Given the description of an element on the screen output the (x, y) to click on. 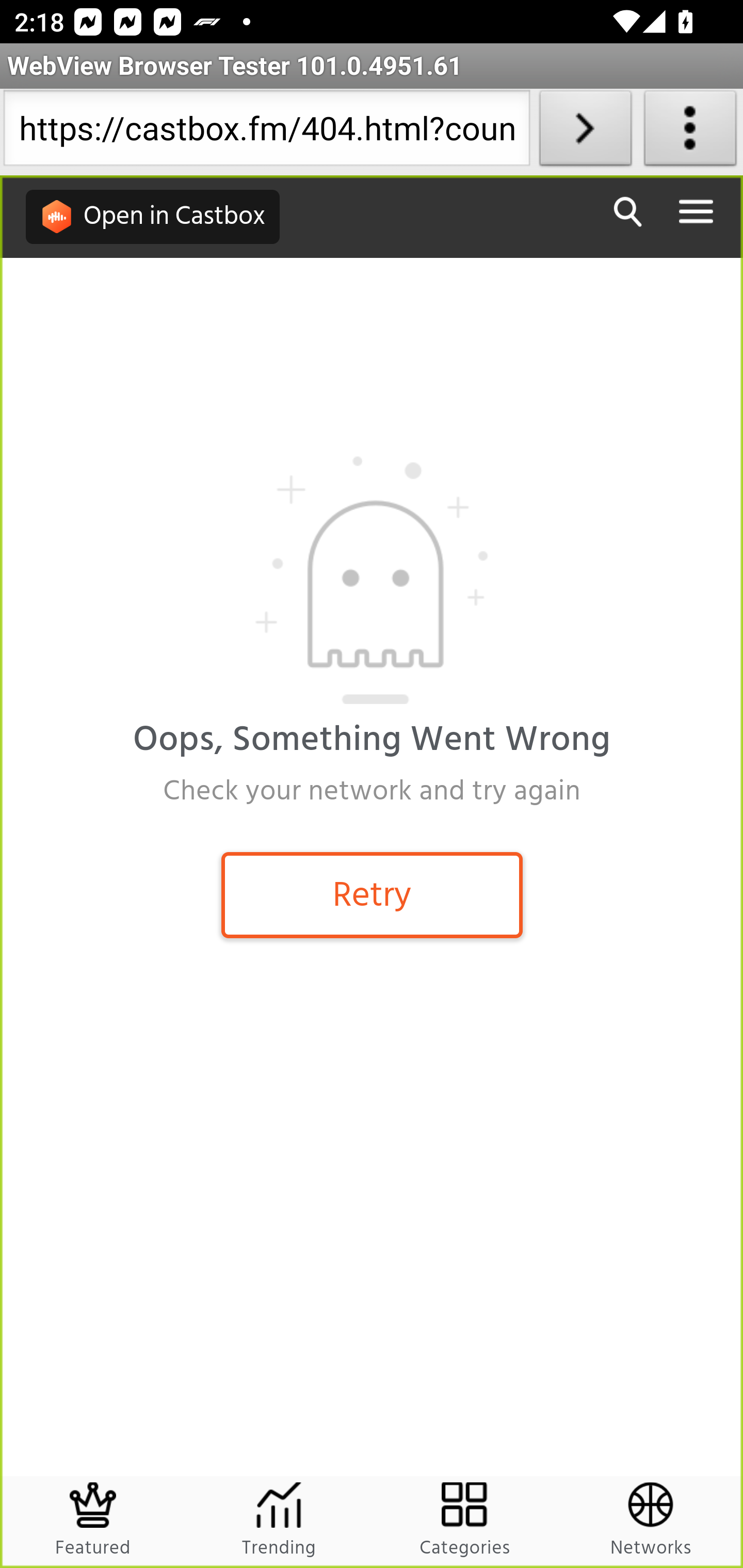
Load URL (585, 132)
About WebView (690, 132)
Retry (371, 894)
Featured (93, 1521)
Trending (278, 1521)
Categories (465, 1521)
Networks (649, 1521)
